Given the description of an element on the screen output the (x, y) to click on. 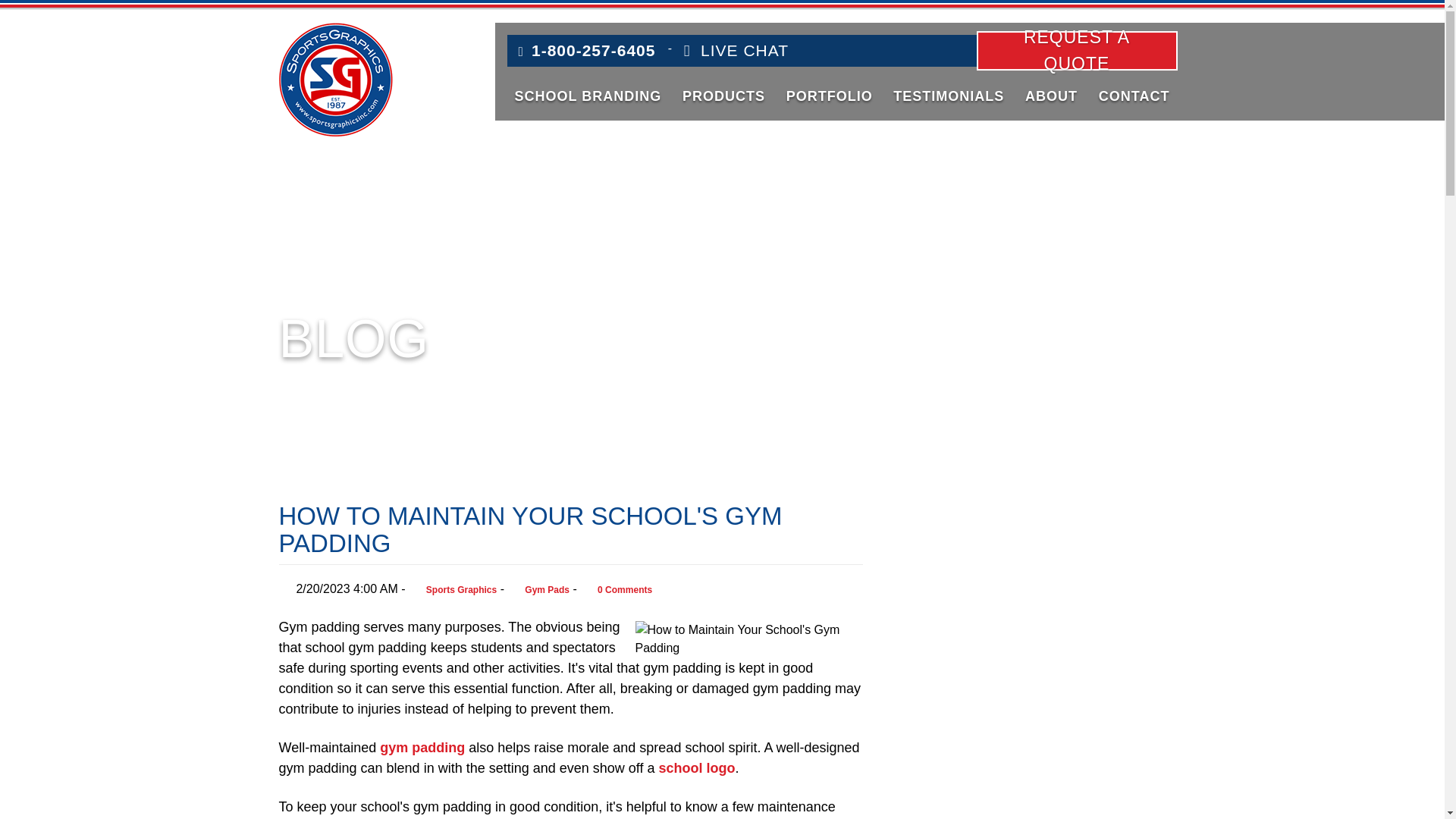
PRODUCTS (724, 96)
School Branding (587, 96)
CONTACT (1133, 96)
Products (724, 96)
PORTFOLIO (829, 96)
TESTIMONIALS (948, 96)
LIVE CHAT (736, 50)
REQUEST A QUOTE (1076, 50)
ABOUT (1050, 96)
Sports Graphics (336, 79)
1-800-257-6405 (587, 50)
SCHOOL BRANDING (587, 96)
